Given the description of an element on the screen output the (x, y) to click on. 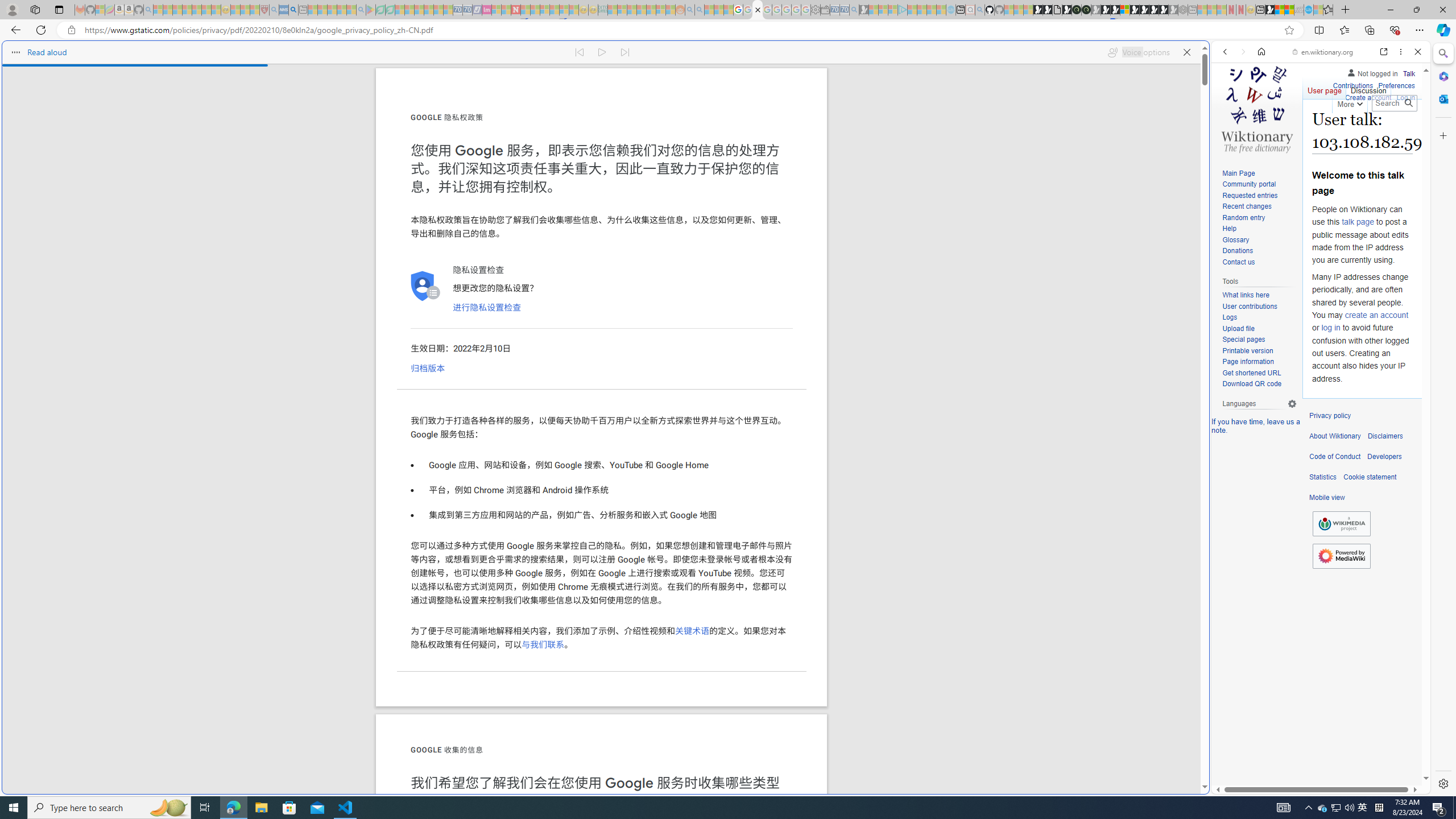
Discussion (1367, 87)
Disclaimers (1385, 436)
Donations (1259, 251)
Bluey: Let's Play! - Apps on Google Play - Sleeping (370, 9)
Terms of Use Agreement - Sleeping (380, 9)
Frequently visited (965, 151)
Glossary (1235, 239)
Community portal (1259, 184)
Cookie statement (1369, 477)
Not logged in (1371, 71)
